Given the description of an element on the screen output the (x, y) to click on. 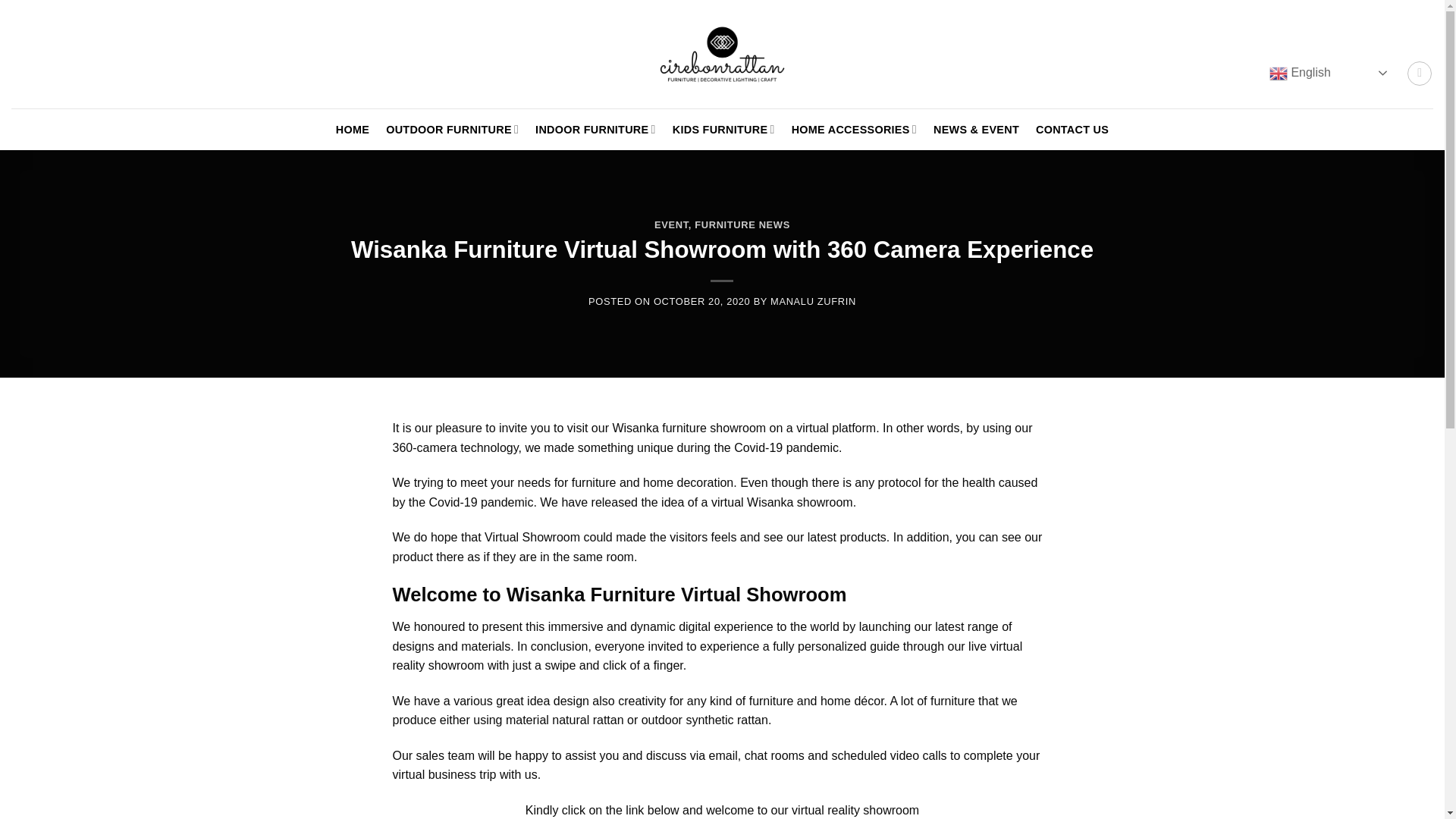
HOME (352, 129)
OUTDOOR FURNITURE (451, 129)
English (1330, 72)
